Given the description of an element on the screen output the (x, y) to click on. 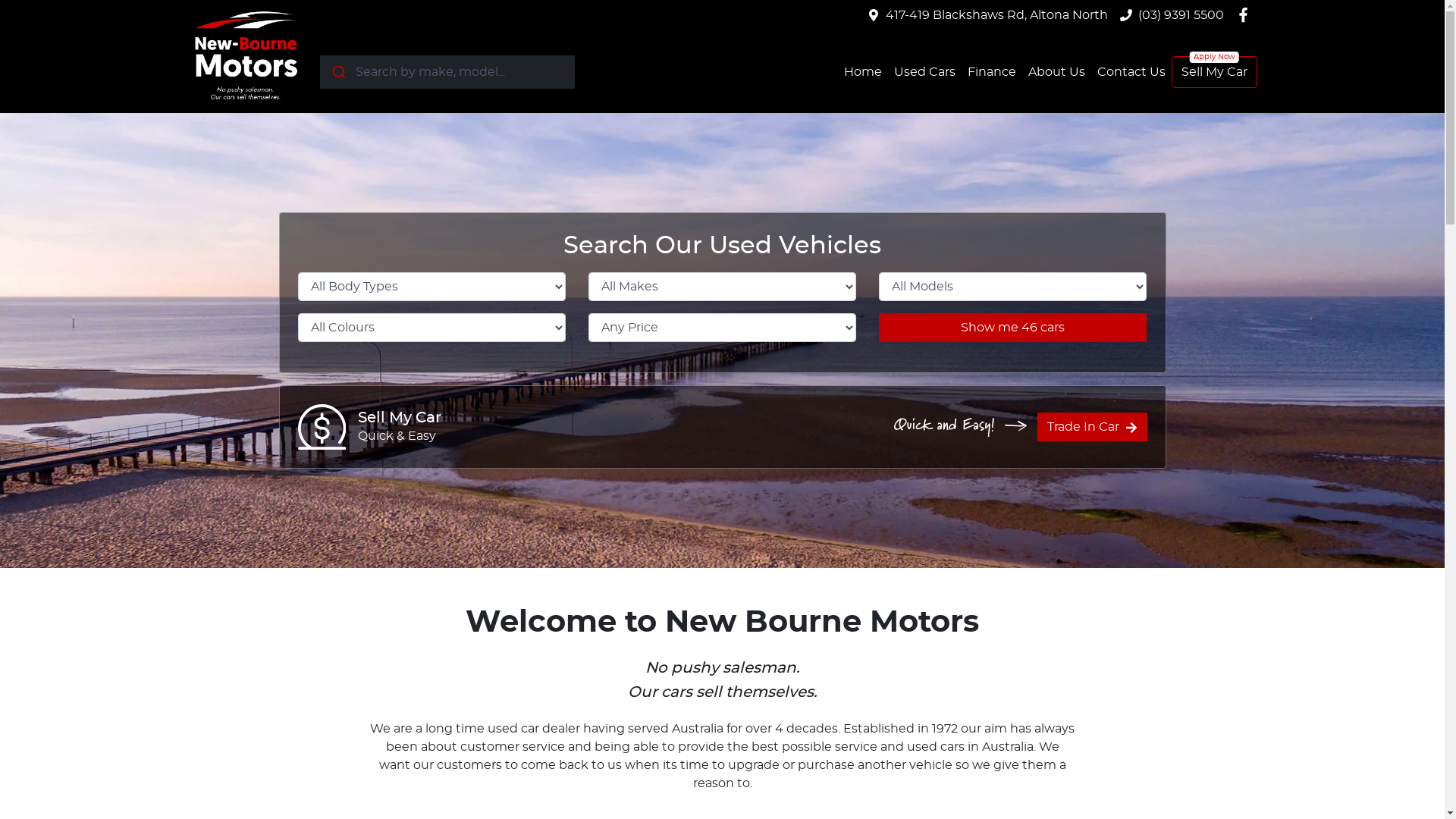
Submit Element type: hover (337, 70)
Show me 46 cars Element type: text (1012, 327)
Sell My Car Element type: text (1213, 71)
Used Cars Element type: text (923, 71)
417-419 Blackshaws Rd, Altona North Element type: text (996, 15)
Contact Us Element type: text (1130, 71)
Home Element type: text (862, 71)
(03) 9391 5500 Element type: text (1180, 15)
Finance Element type: text (991, 71)
Trade In Car Element type: text (1092, 426)
About Us Element type: text (1056, 71)
